Given the description of an element on the screen output the (x, y) to click on. 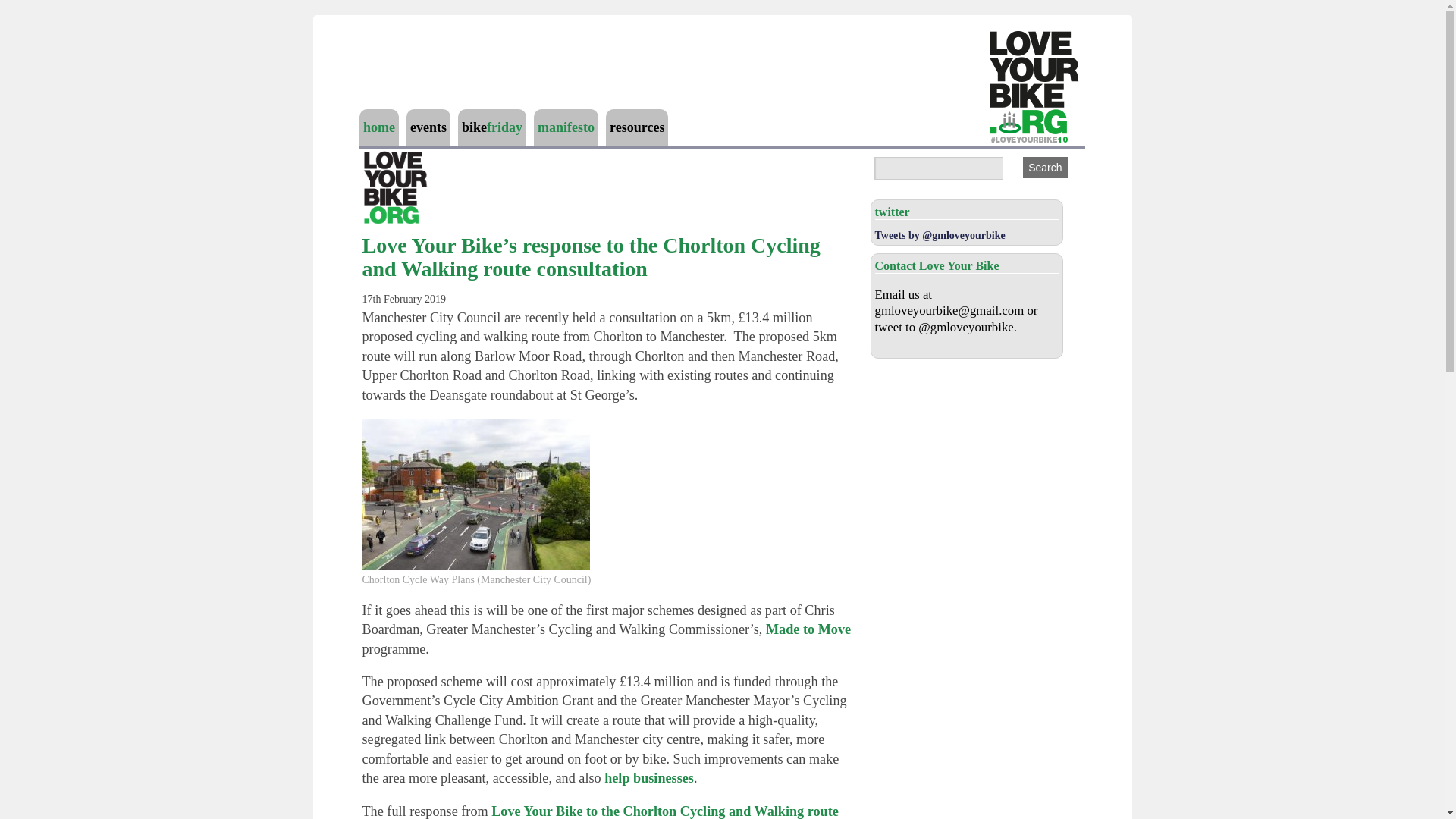
manifesto (565, 127)
events (428, 127)
Search (1045, 167)
home (378, 127)
help businesses (649, 777)
Search (1045, 167)
friday (504, 127)
Made to Move (807, 629)
bike (473, 127)
resources (636, 127)
